Given the description of an element on the screen output the (x, y) to click on. 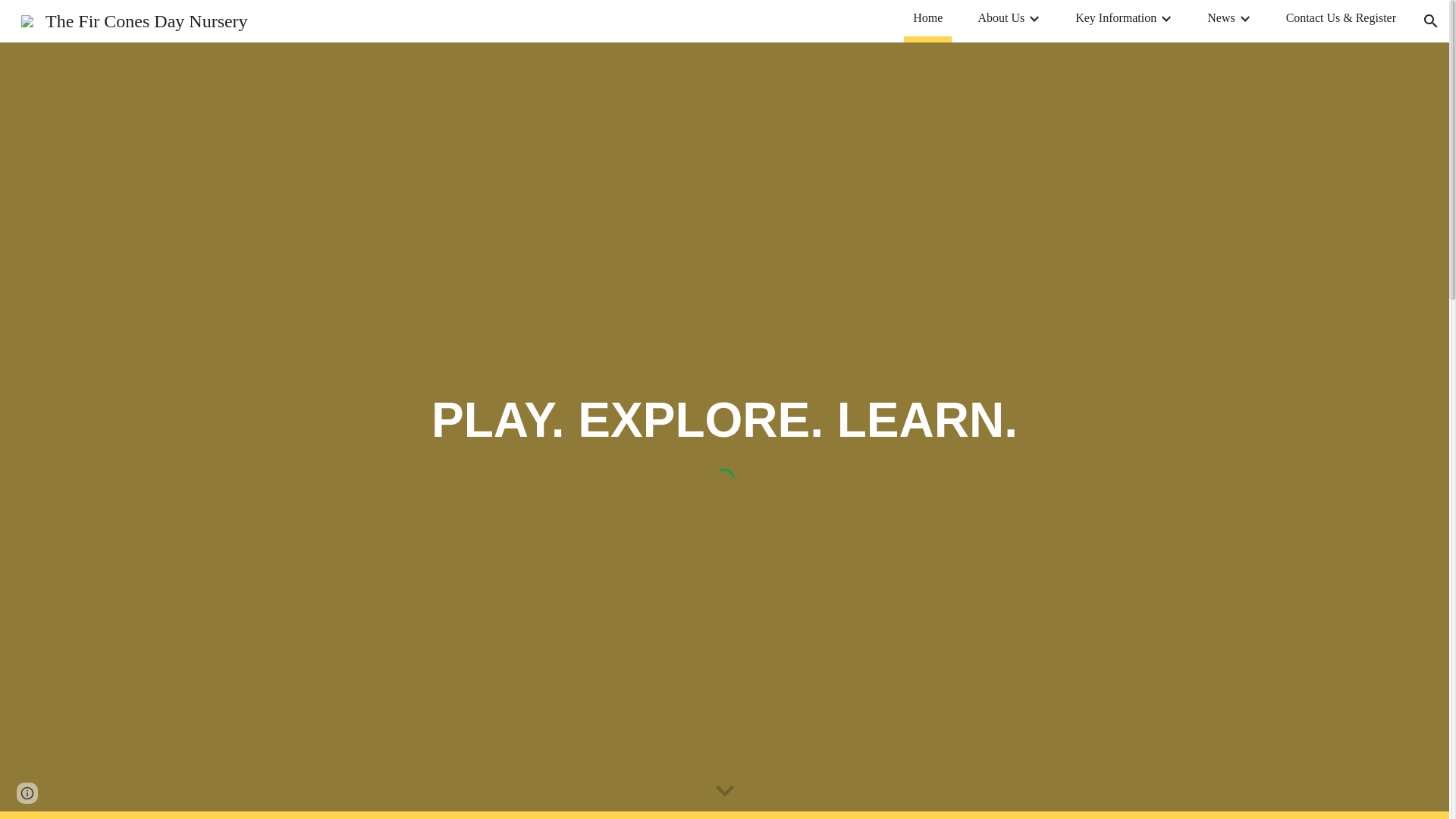
News (1220, 17)
Home (927, 17)
Custom embed (724, 479)
The Fir Cones Day Nursery (134, 19)
Key Information (1115, 17)
About Us (1000, 17)
